Given the description of an element on the screen output the (x, y) to click on. 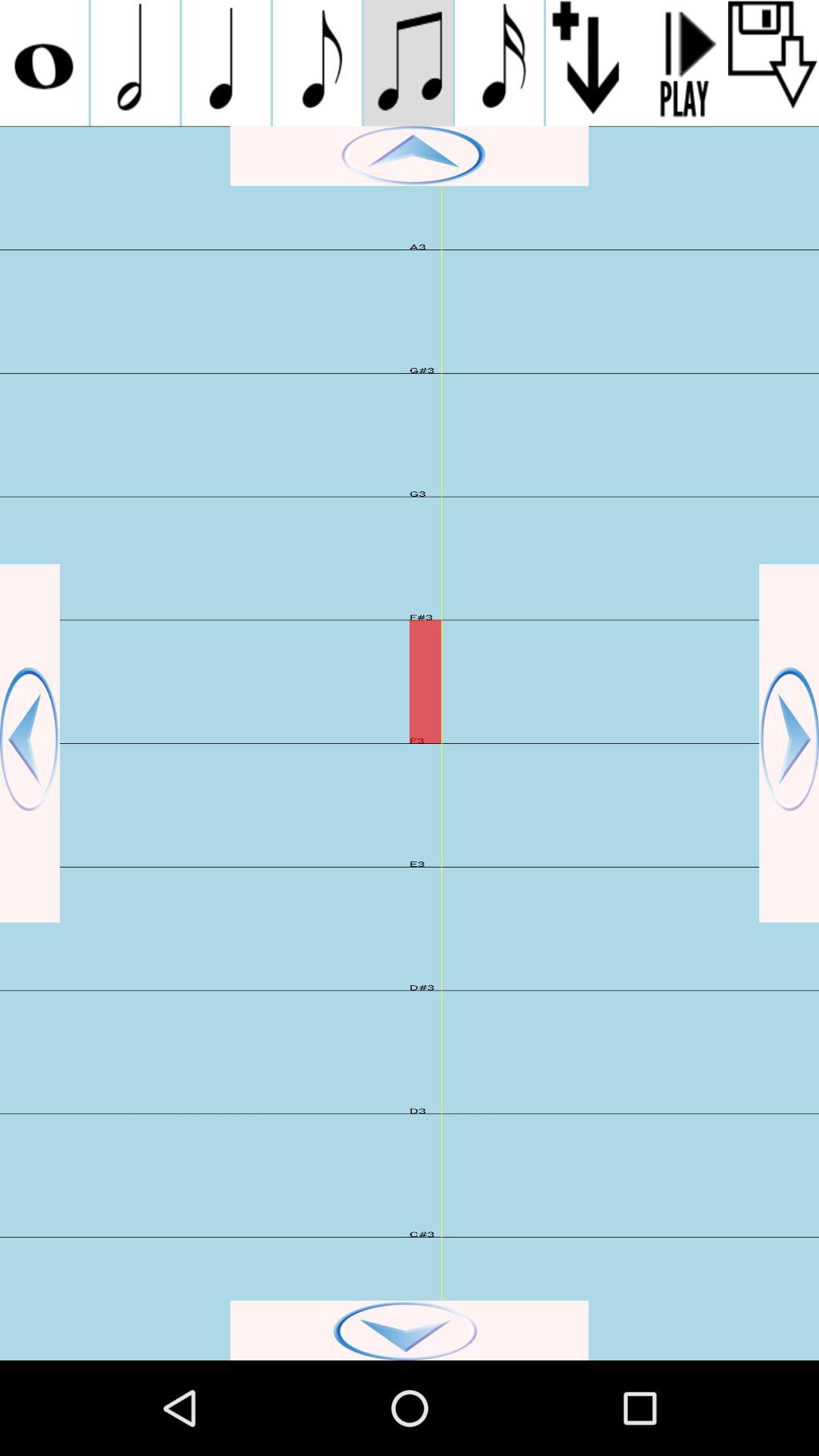
go down (409, 1330)
